Given the description of an element on the screen output the (x, y) to click on. 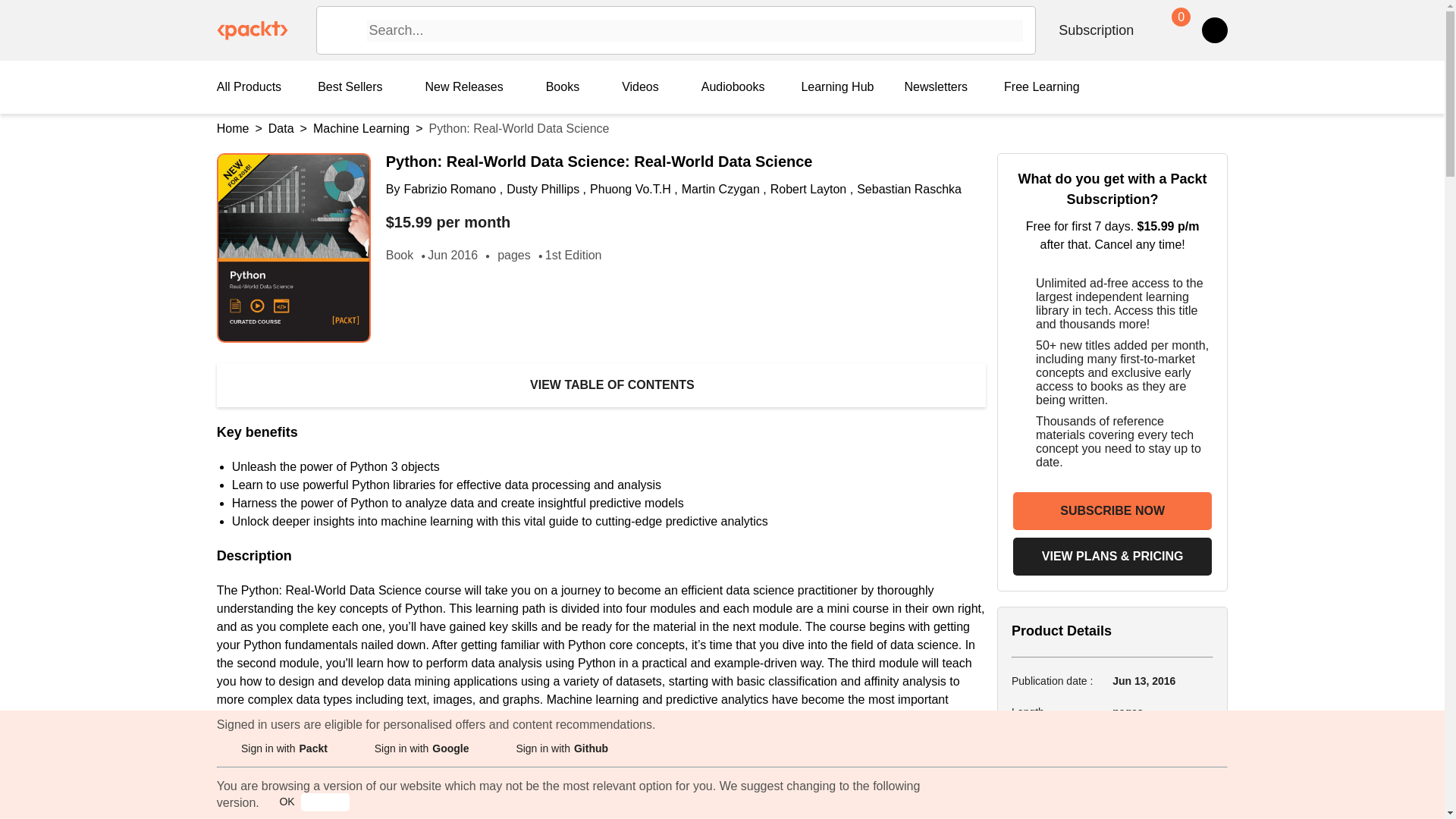
Subscription (1096, 29)
